Given the description of an element on the screen output the (x, y) to click on. 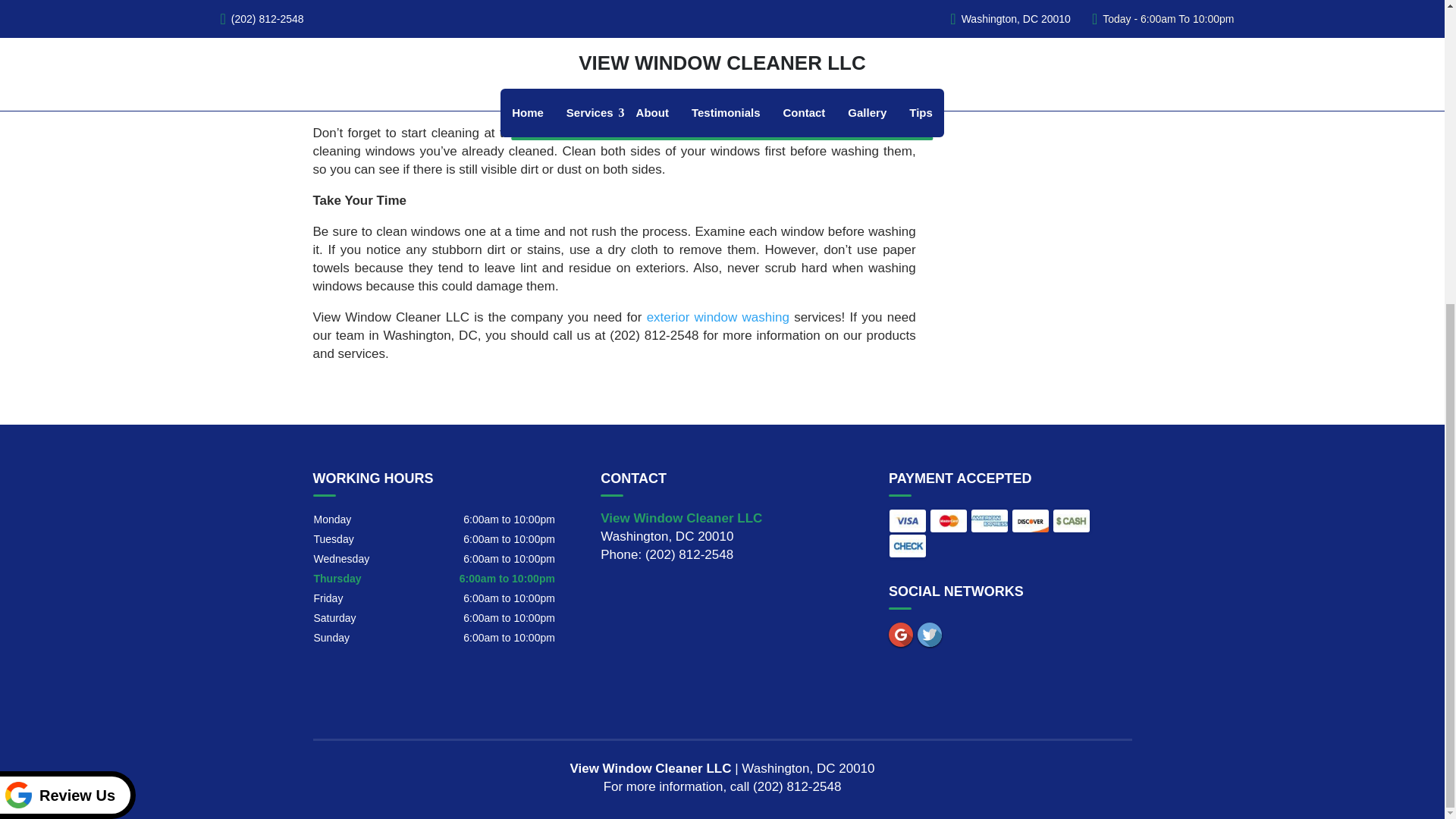
google (900, 634)
twitter (929, 634)
mastercard payment accepted (948, 520)
About View Window Cleaner LLC's exterior window washing (717, 317)
americanexpress payment accepted (989, 520)
Review Us (67, 318)
discover payment accepted (1029, 520)
Check company profile on google (900, 634)
exterior window washing (717, 317)
Check company profile on twitter (929, 634)
cash payment accepted (1070, 520)
visa payment accepted (907, 520)
check payment accepted (907, 545)
